Given the description of an element on the screen output the (x, y) to click on. 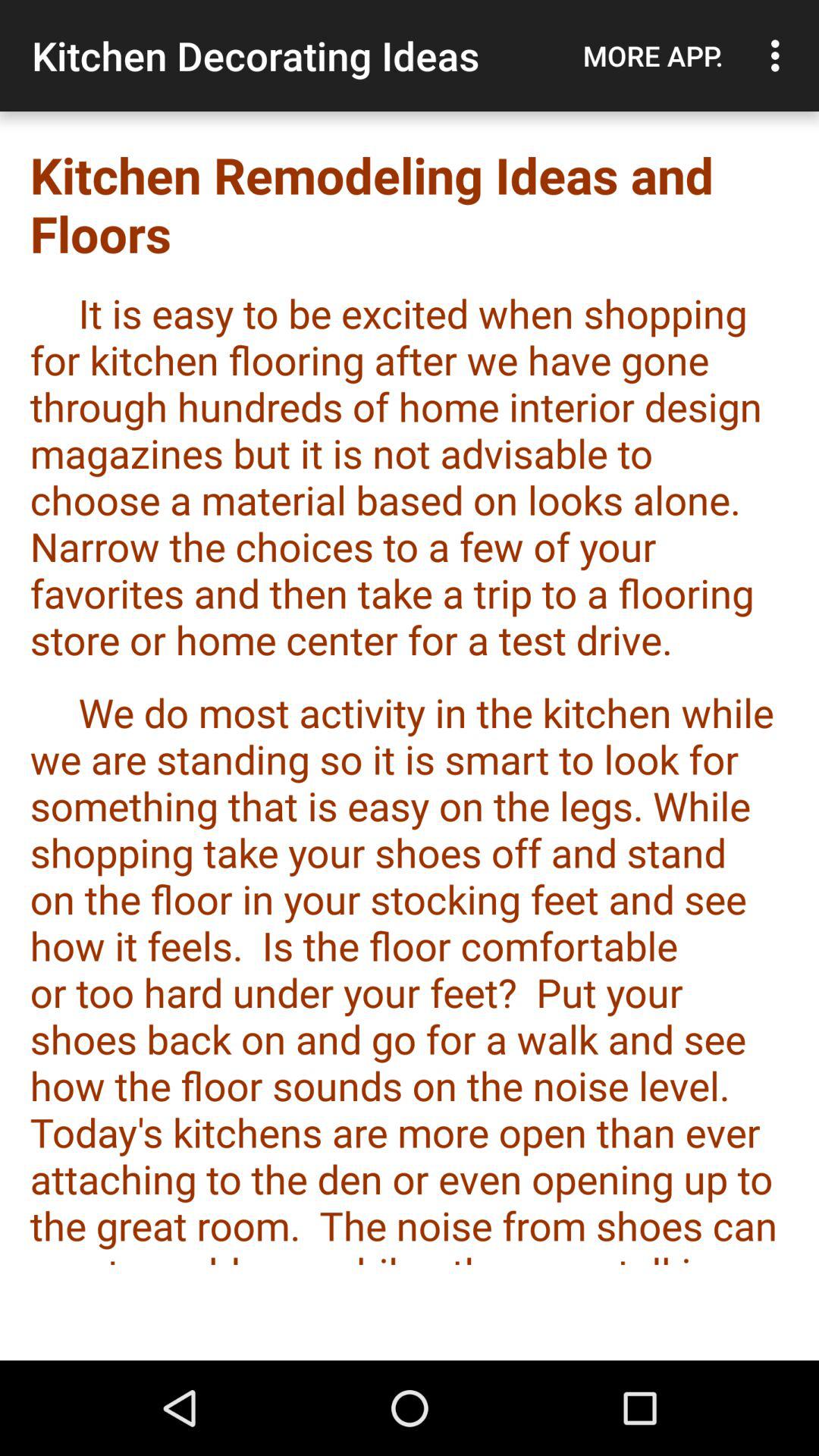
select the item to the right of more app. item (779, 55)
